Given the description of an element on the screen output the (x, y) to click on. 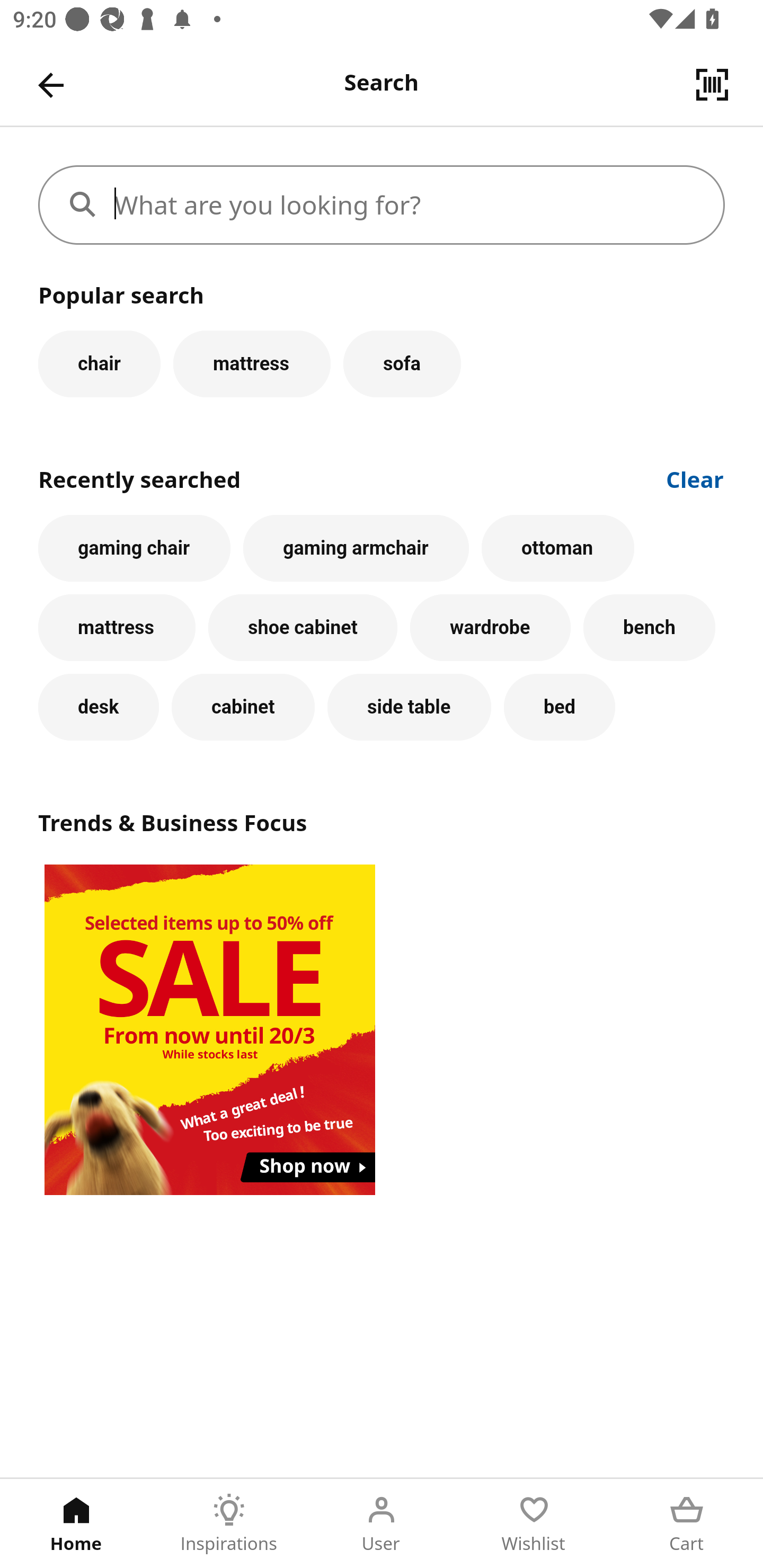
chair (99, 363)
mattress (251, 363)
sofa (401, 363)
Clear (695, 477)
gaming chair (134, 547)
gaming armchair (356, 547)
ottoman (557, 547)
mattress (116, 627)
shoe cabinet (302, 627)
wardrobe (490, 627)
bench (649, 627)
desk (98, 707)
cabinet (242, 707)
side table (409, 707)
bed (558, 707)
Home
Tab 1 of 5 (76, 1522)
Inspirations
Tab 2 of 5 (228, 1522)
User
Tab 3 of 5 (381, 1522)
Wishlist
Tab 4 of 5 (533, 1522)
Cart
Tab 5 of 5 (686, 1522)
